Given the description of an element on the screen output the (x, y) to click on. 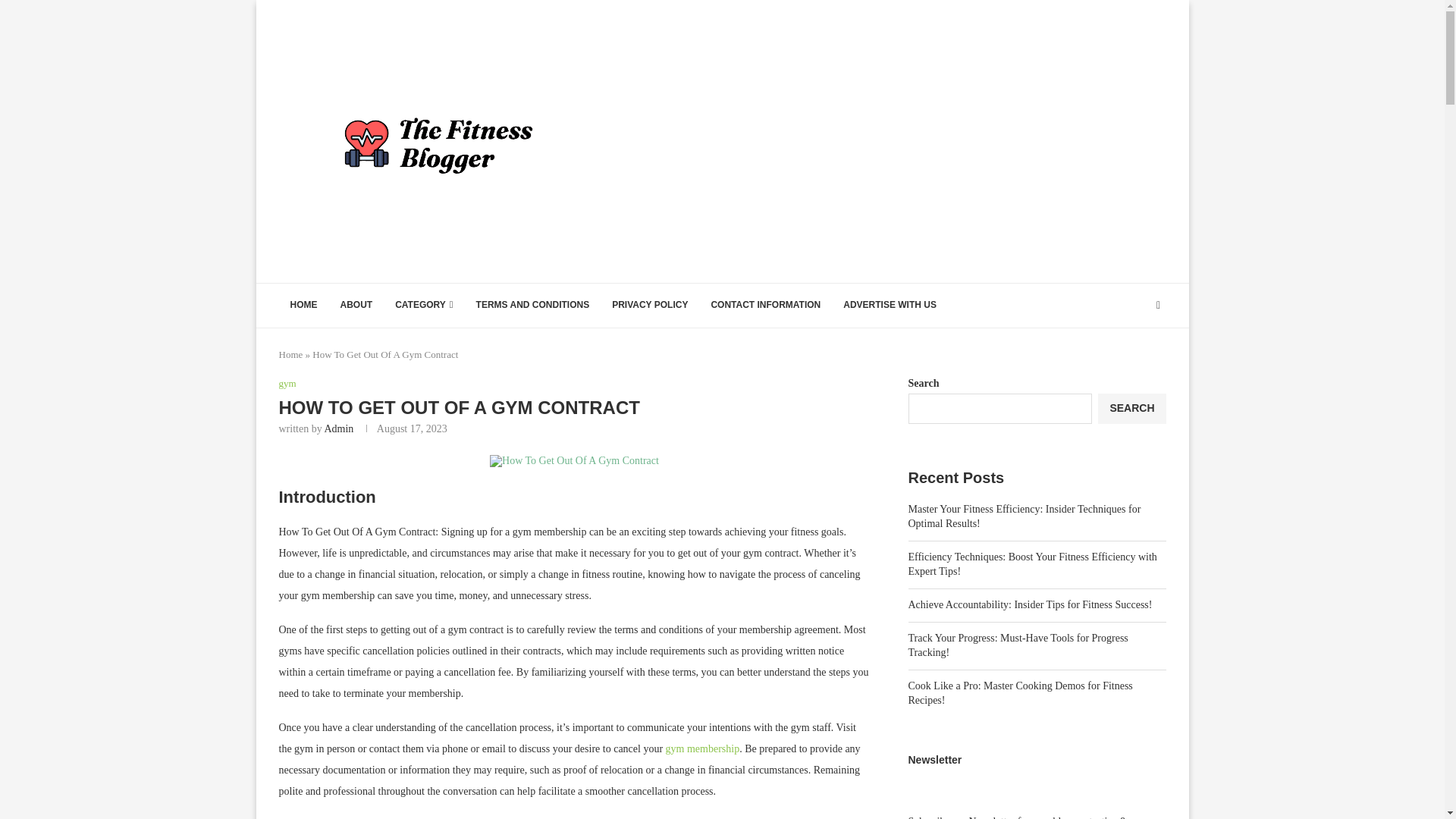
ABOUT (356, 305)
How To Get Out Of A Gym Contract (574, 460)
HOME (304, 305)
CATEGORY (424, 305)
